Given the description of an element on the screen output the (x, y) to click on. 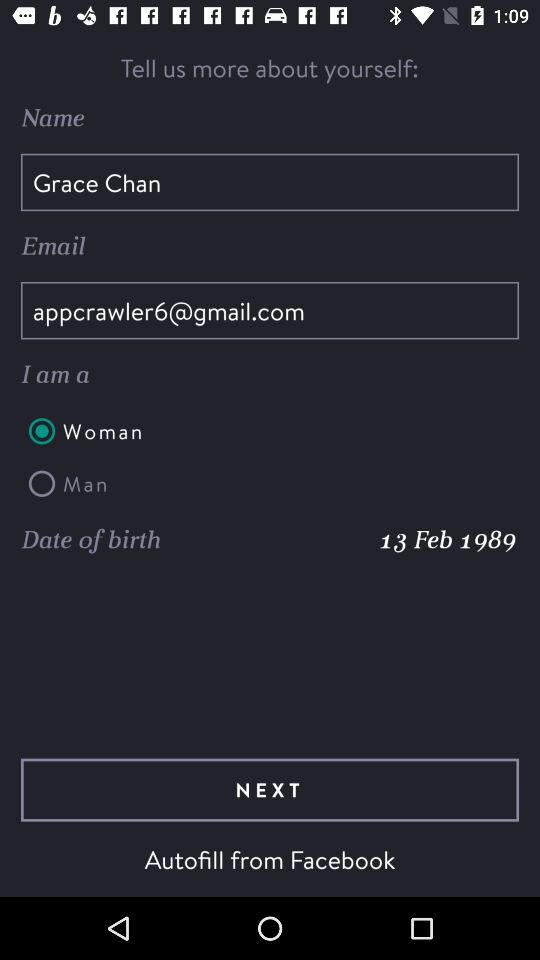
turn on the item below the i am a (270, 431)
